Given the description of an element on the screen output the (x, y) to click on. 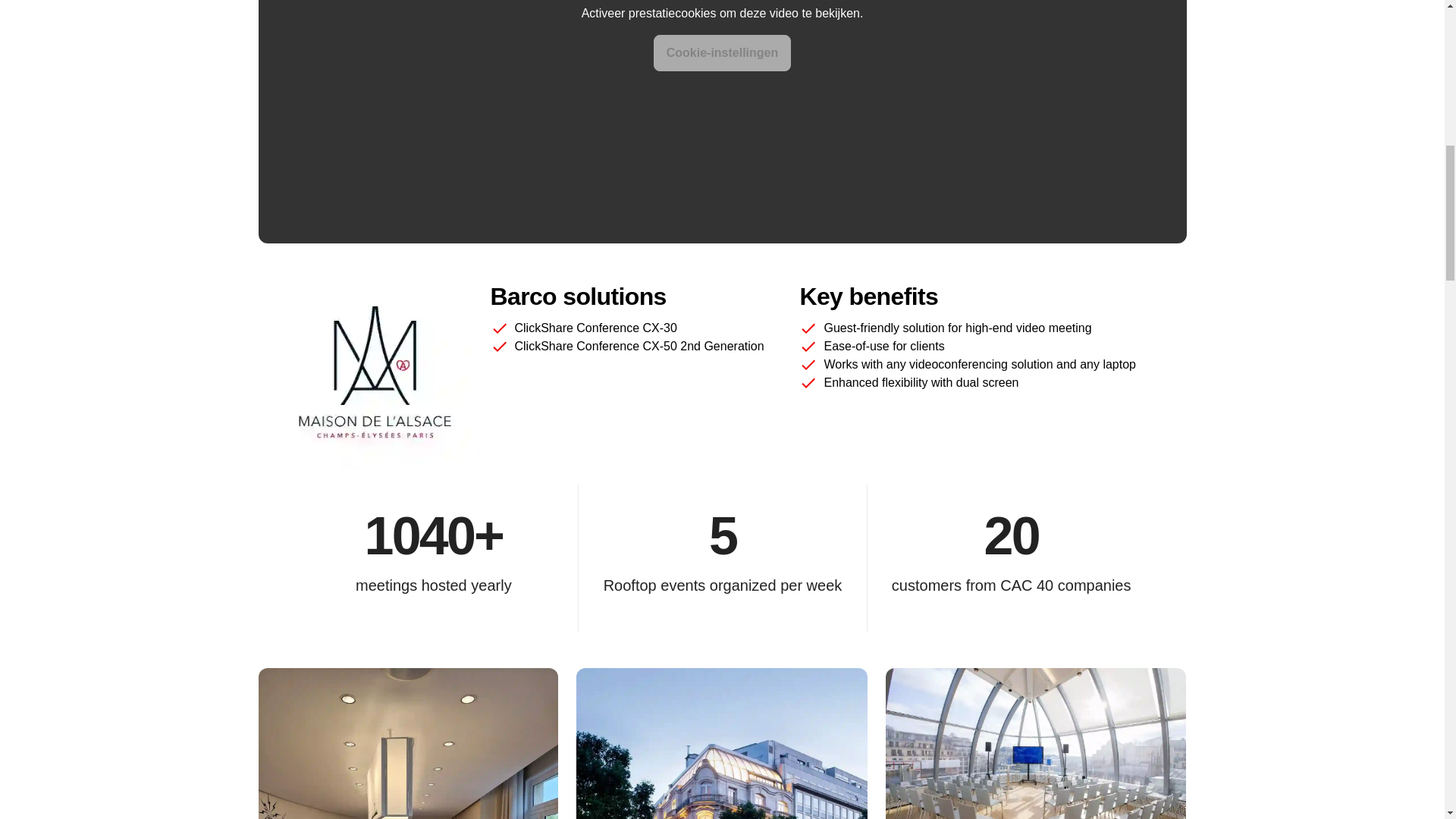
Rooftop-slide-1 (1035, 743)
maisondalsace logo (373, 377)
